Given the description of an element on the screen output the (x, y) to click on. 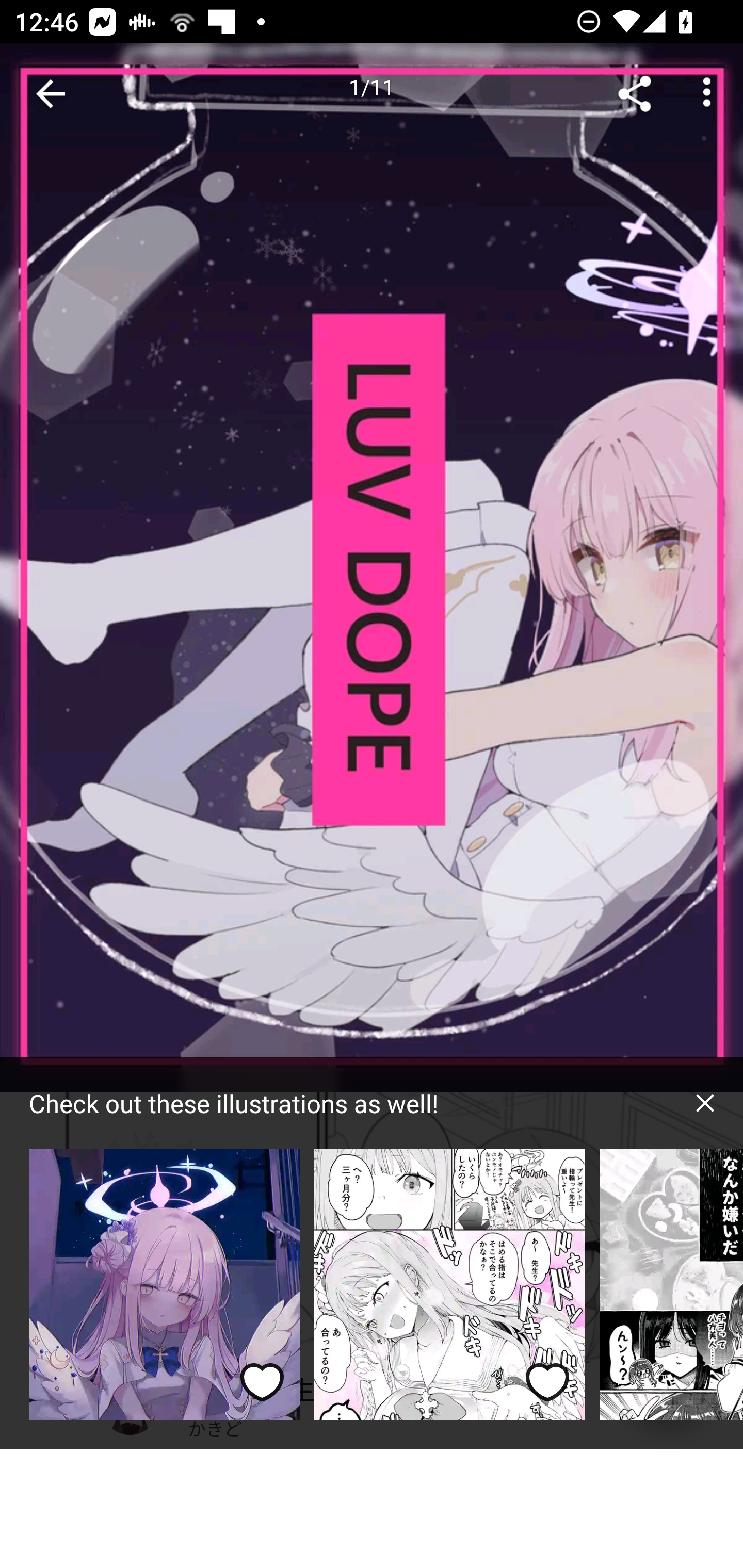
Share (634, 93)
More options (706, 93)
